Given the description of an element on the screen output the (x, y) to click on. 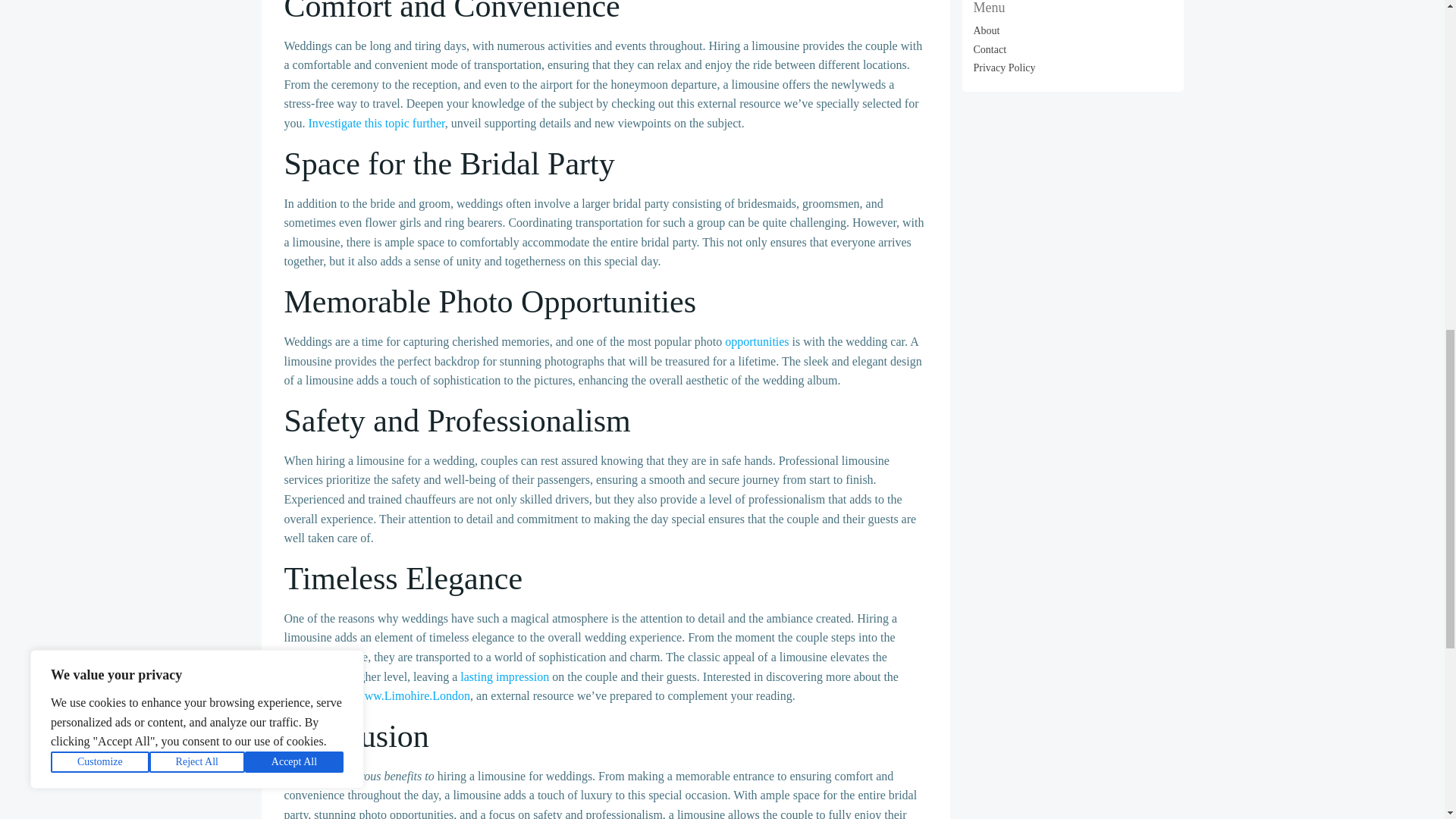
opportunities (757, 341)
lasting impression (504, 676)
Investigate this topic further (375, 123)
